Given the description of an element on the screen output the (x, y) to click on. 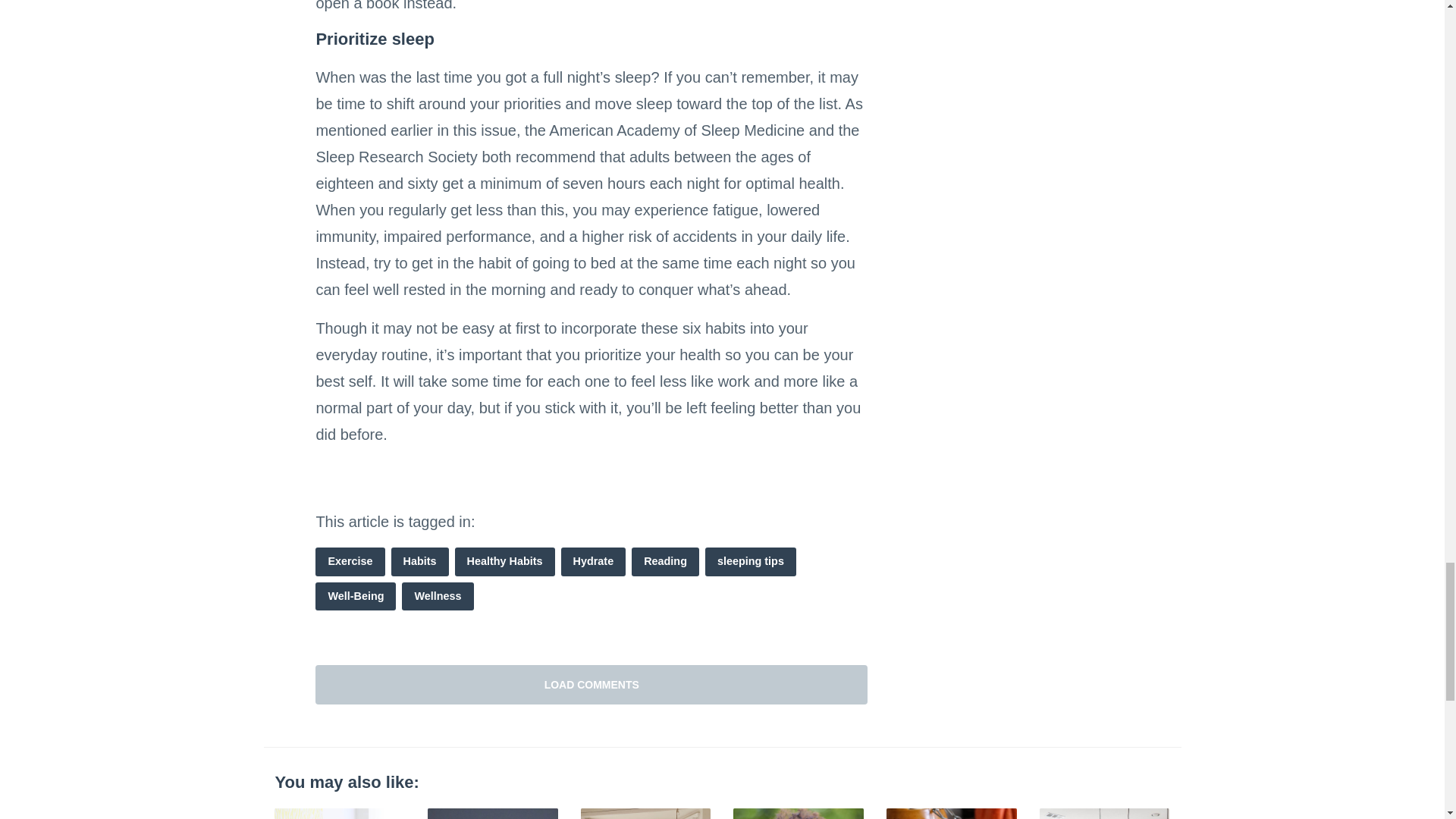
Healthy Habits (504, 561)
Hydrate (593, 561)
Reading (664, 561)
Habits (419, 561)
sleeping tips (750, 561)
Exercise (349, 561)
